Given the description of an element on the screen output the (x, y) to click on. 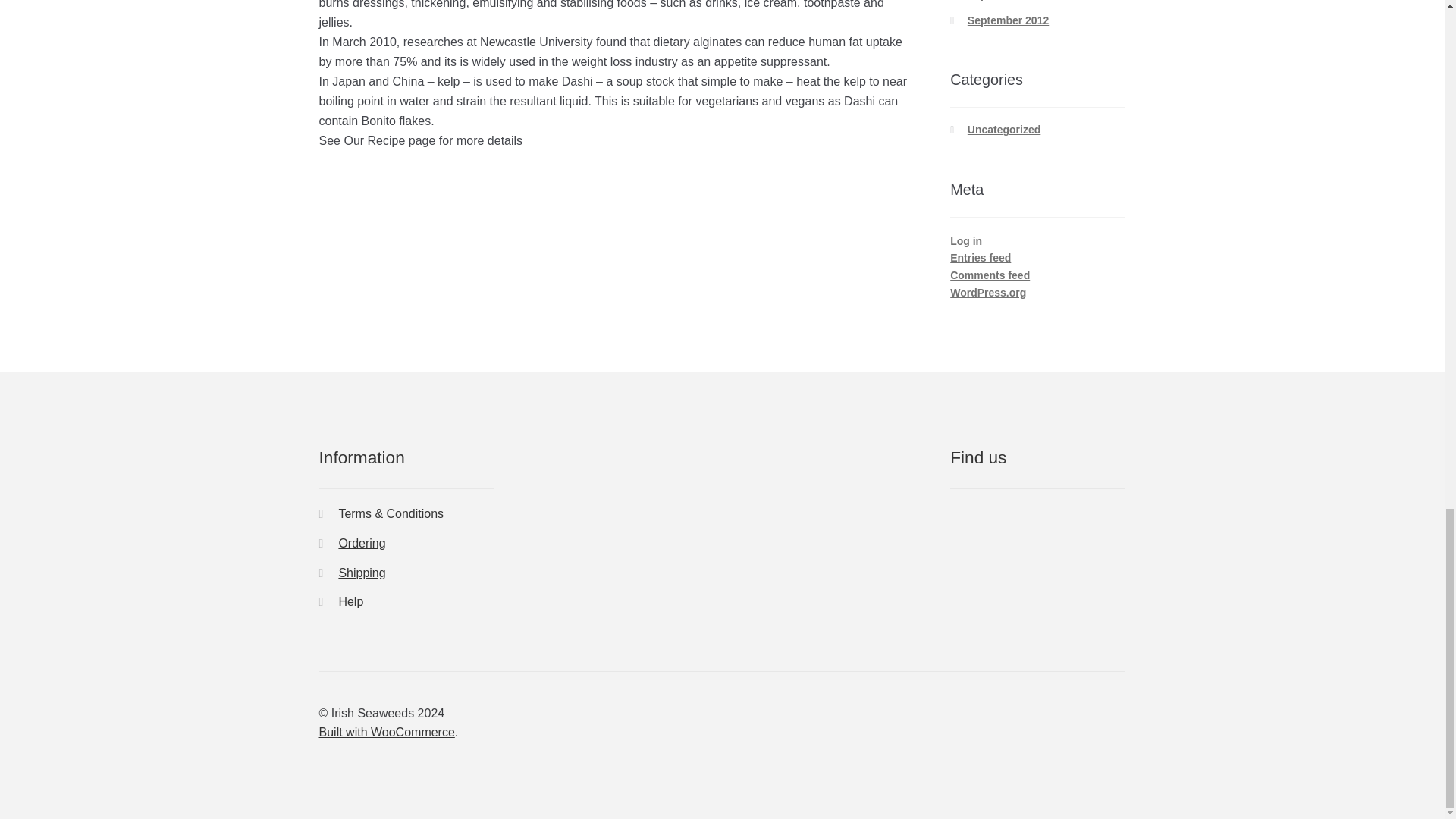
WooCommerce - The Best eCommerce Platform for WordPress (386, 731)
